Given the description of an element on the screen output the (x, y) to click on. 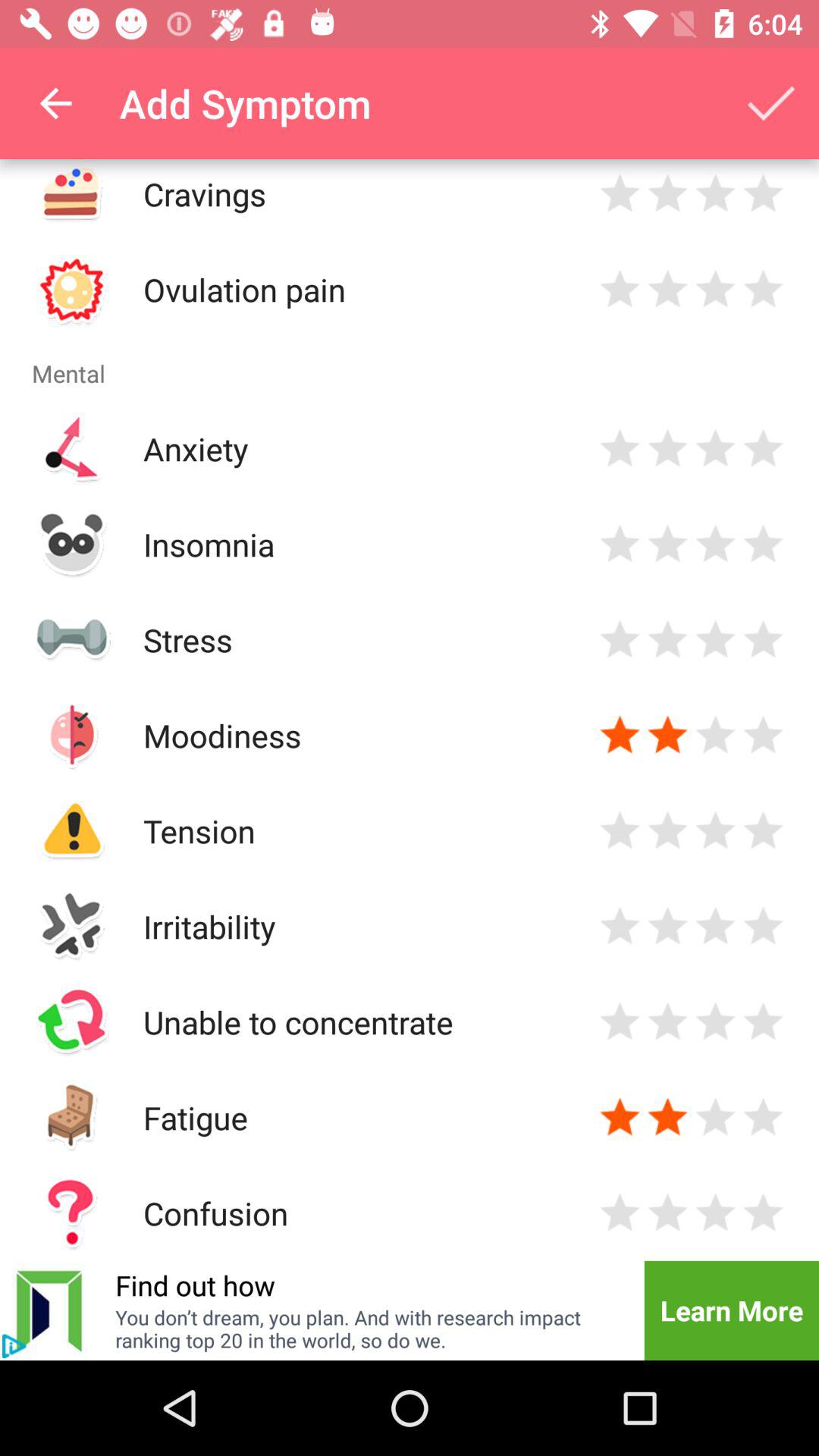
this is a dissease symptoms (667, 735)
